Given the description of an element on the screen output the (x, y) to click on. 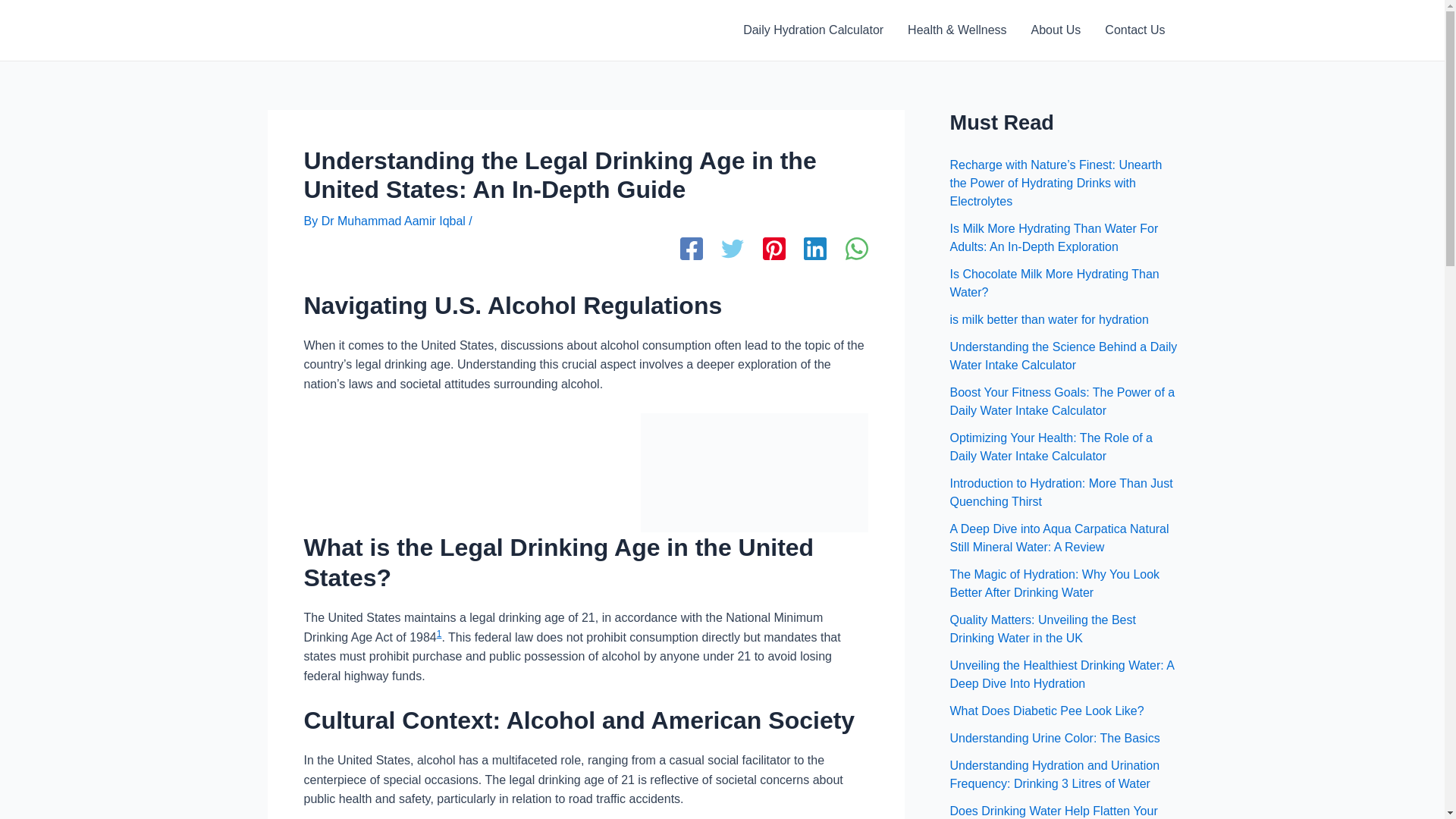
Daily Hydration Calculator (812, 30)
About Us (1056, 30)
Contact Us (1134, 30)
View all posts by Dr Muhammad Aamir Iqbal (394, 220)
Dr Muhammad Aamir Iqbal (394, 220)
